Given the description of an element on the screen output the (x, y) to click on. 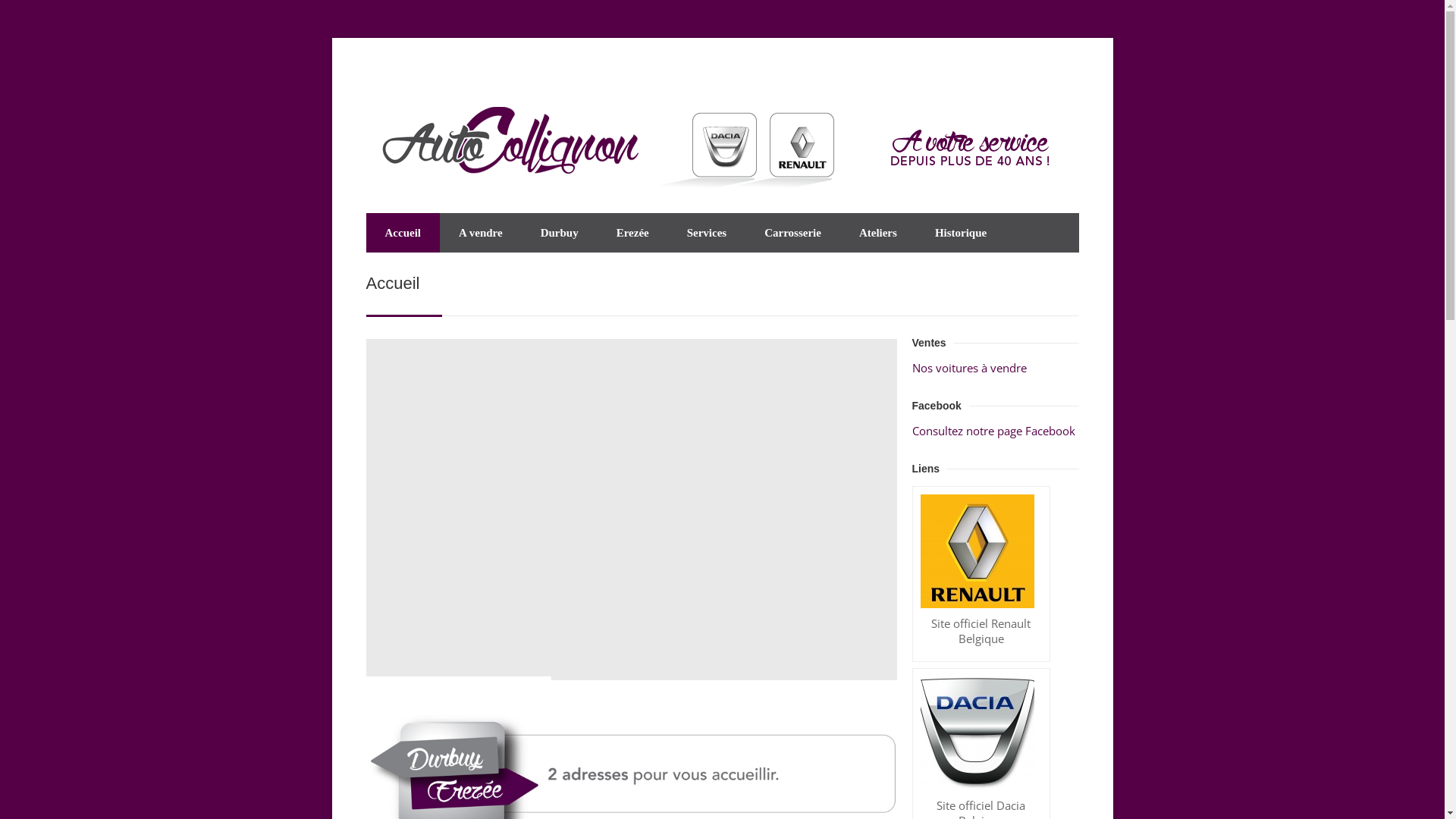
A vendre Element type: text (480, 232)
Carrosserie Element type: text (792, 232)
Historique Element type: text (960, 232)
Accueil Element type: text (402, 232)
Ateliers Element type: text (878, 232)
Consultez notre page Facebook Element type: text (992, 430)
Services Element type: text (706, 232)
Durbuy Element type: text (559, 232)
